Given the description of an element on the screen output the (x, y) to click on. 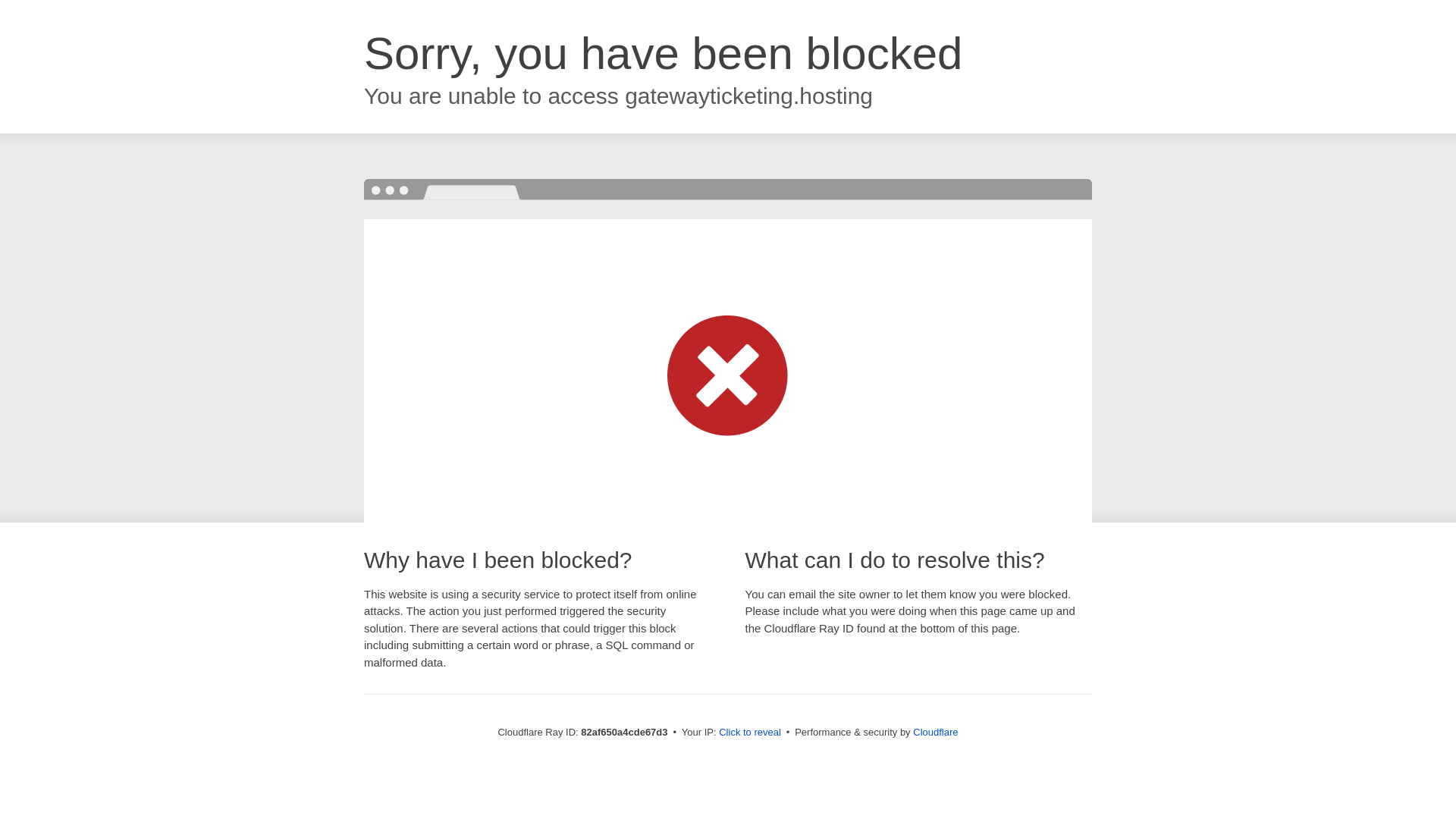
Cloudflare Element type: text (935, 731)
Click to reveal Element type: text (749, 732)
